Given the description of an element on the screen output the (x, y) to click on. 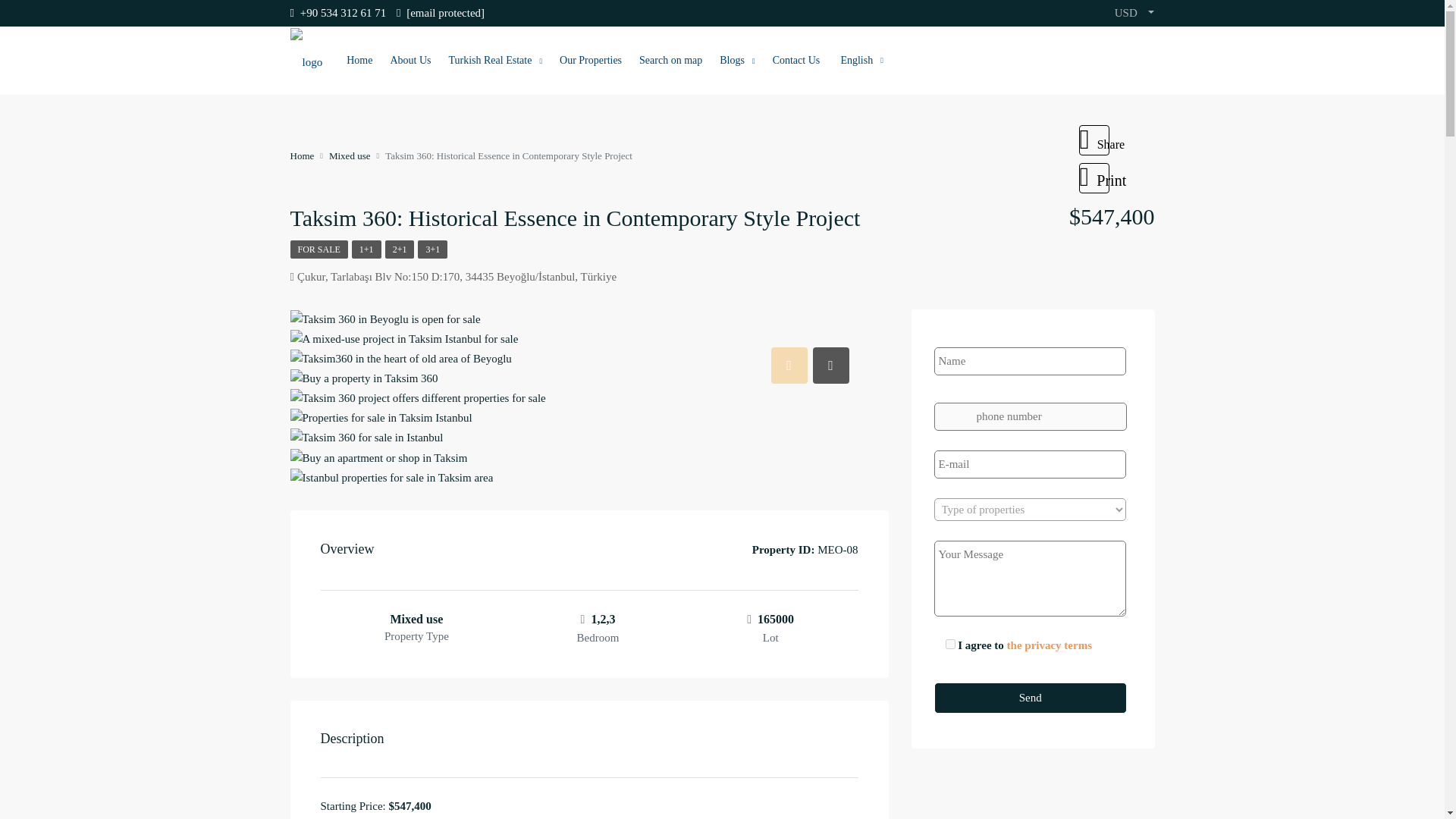
Taksim360-general-view2 (403, 339)
English (859, 60)
Home (301, 154)
Turkish Real Estate (494, 60)
Mixed use (350, 154)
taksim360-loby (400, 358)
taksim360-interior-view (416, 398)
USD (1133, 13)
Send (1030, 697)
taksim360-interiorview-bathroom2 (378, 457)
